Given the description of an element on the screen output the (x, y) to click on. 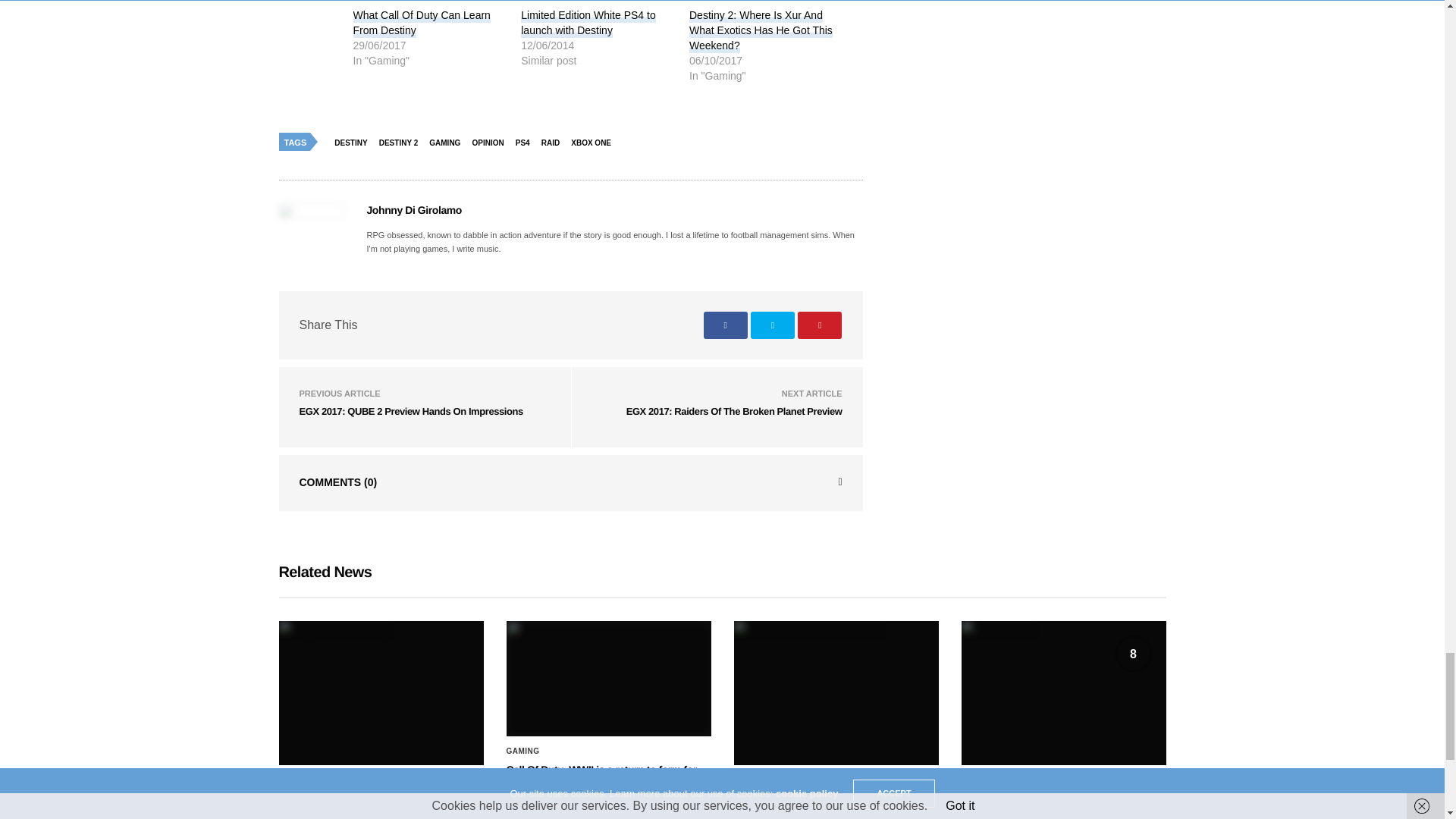
PS4 (526, 142)
EGX 2017: QUBE 2 Preview Hands On Impressions (410, 410)
EGX 2017: Raiders Of The Broken Planet Preview (734, 410)
Limited Edition White PS4 to launch with Destiny (588, 23)
What Call Of Duty Can Learn From Destiny (421, 23)
Limited Edition White PS4 to launch with Destiny (588, 23)
RAID (553, 142)
DESTINY (354, 142)
DESTINY 2 (402, 142)
Why Sony May Need To Announce the PS5 Soon (381, 692)
OPINION (491, 142)
What Call Of Duty Can Learn From Destiny (421, 23)
GAMING (448, 142)
